Given the description of an element on the screen output the (x, y) to click on. 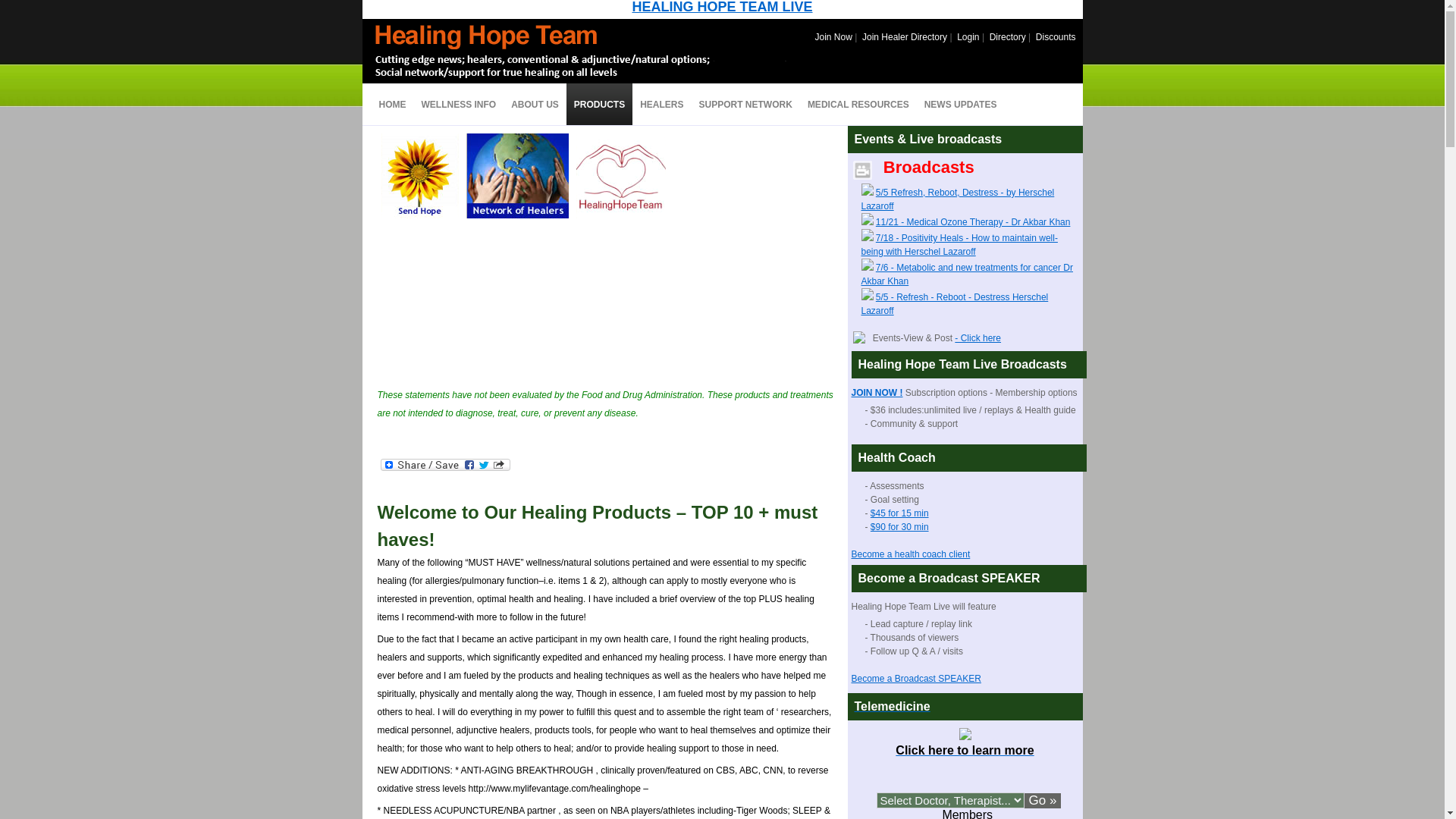
ABOUT US (965, 724)
HEALERS (534, 104)
- Click here (660, 104)
HOME (978, 337)
HEALING HOPE TEAM LIVE (392, 104)
Join Now (721, 7)
WELLNESS INFO (833, 36)
MEDICAL RESOURCES (458, 104)
Directory (858, 104)
